Given the description of an element on the screen output the (x, y) to click on. 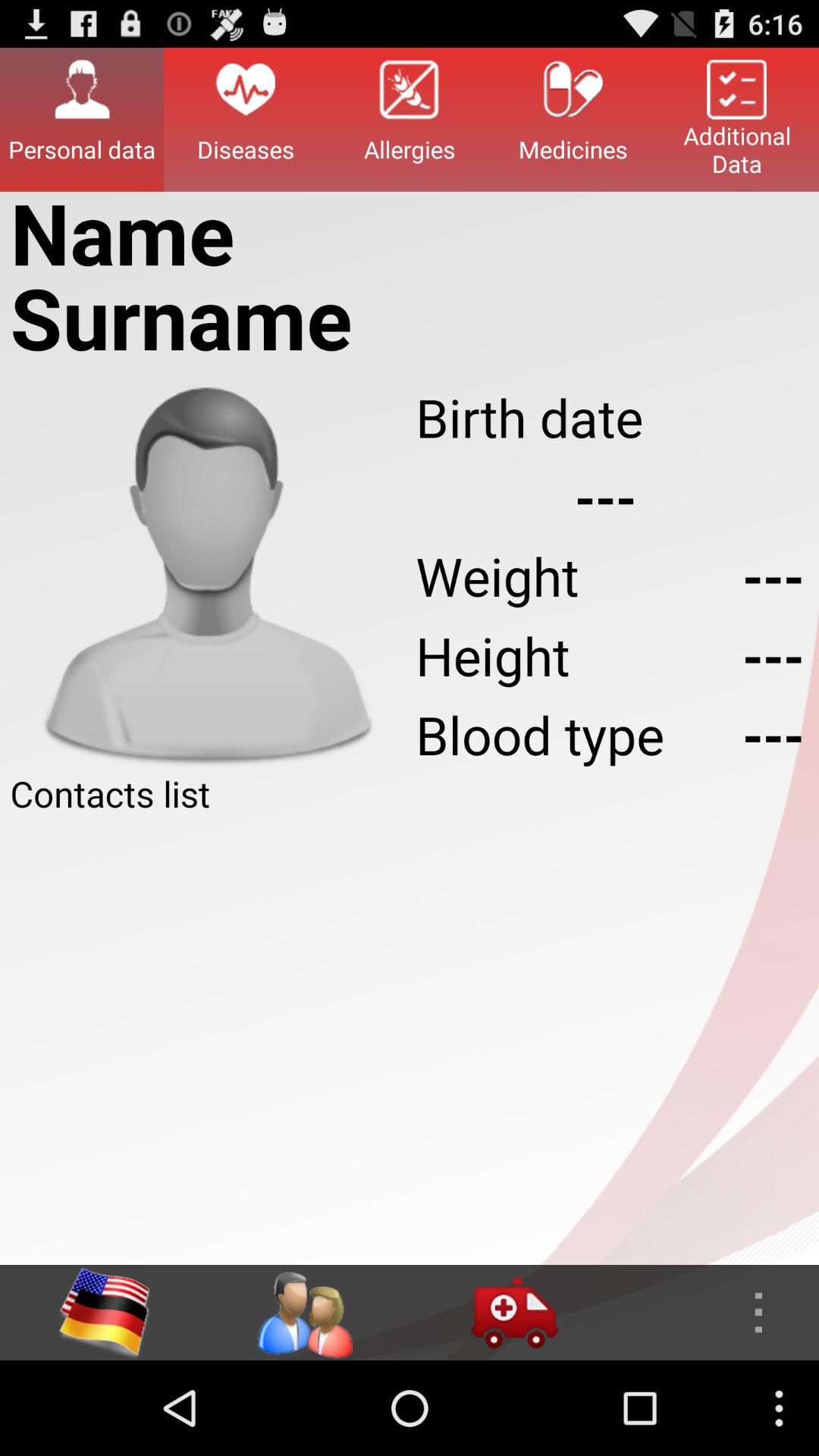
flip to personal data (81, 119)
